Given the description of an element on the screen output the (x, y) to click on. 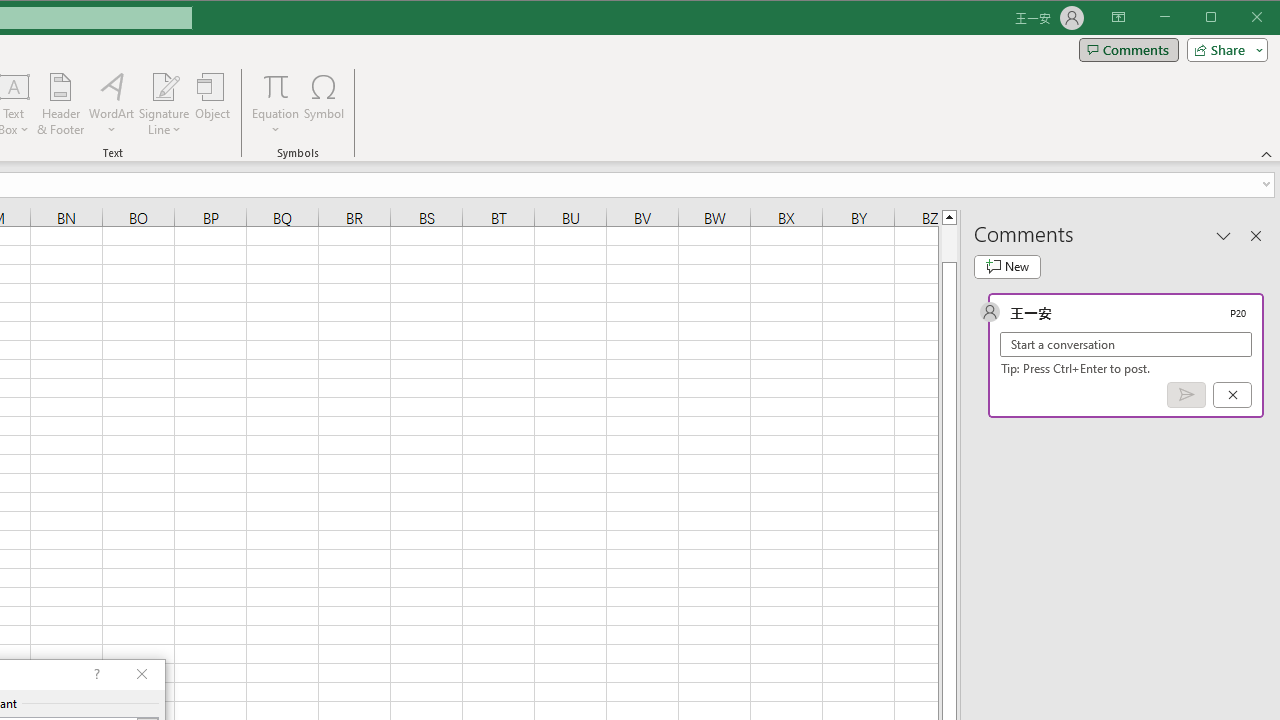
Start a conversation (1126, 344)
Symbol... (324, 104)
Header & Footer... (60, 104)
Signature Line (164, 104)
Cancel (1232, 395)
Page up (948, 243)
Post comment (Ctrl + Enter) (1186, 395)
Signature Line (164, 86)
